Given the description of an element on the screen output the (x, y) to click on. 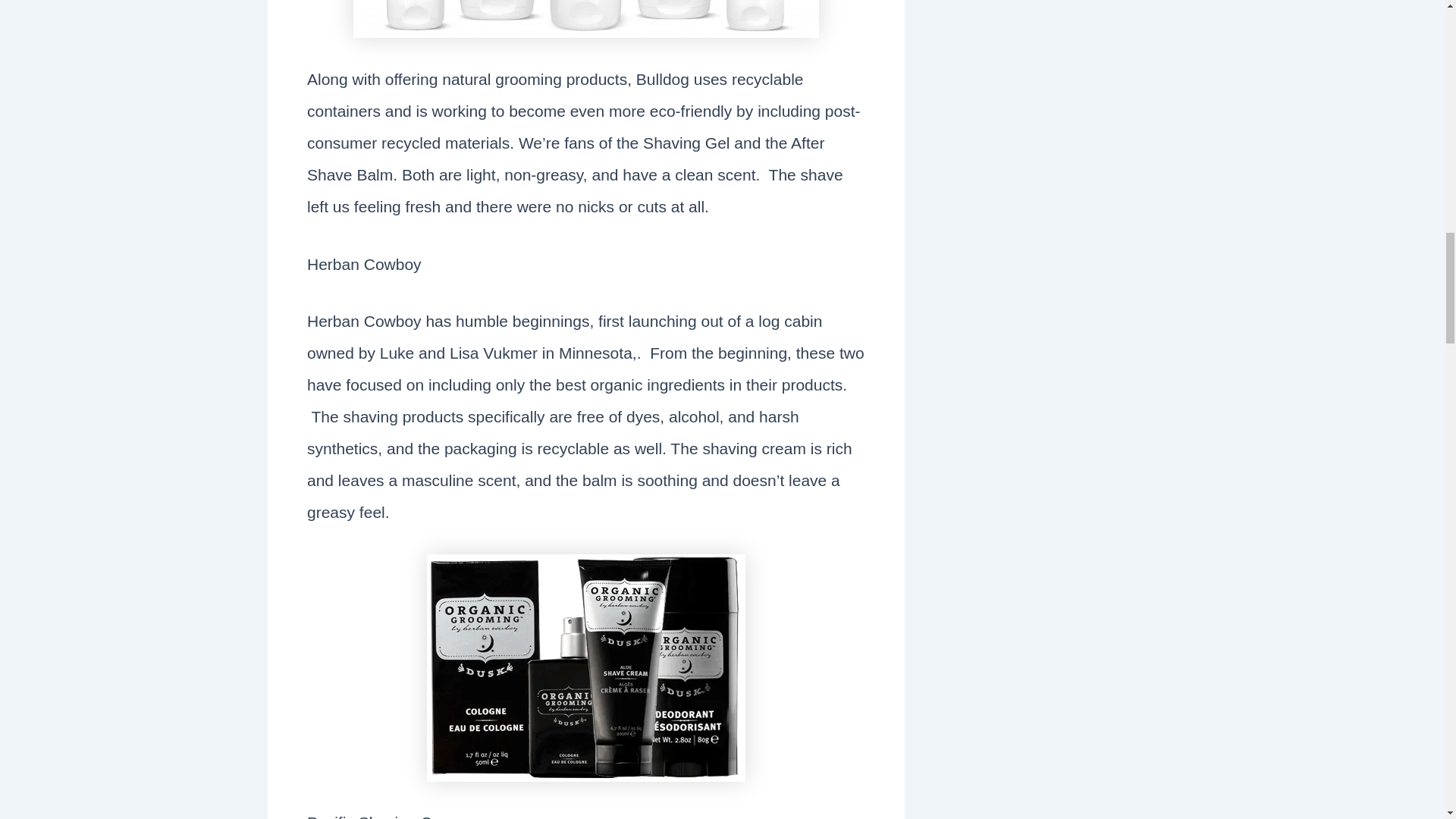
herbancowboy (585, 668)
Bulldog Set (585, 18)
